Given the description of an element on the screen output the (x, y) to click on. 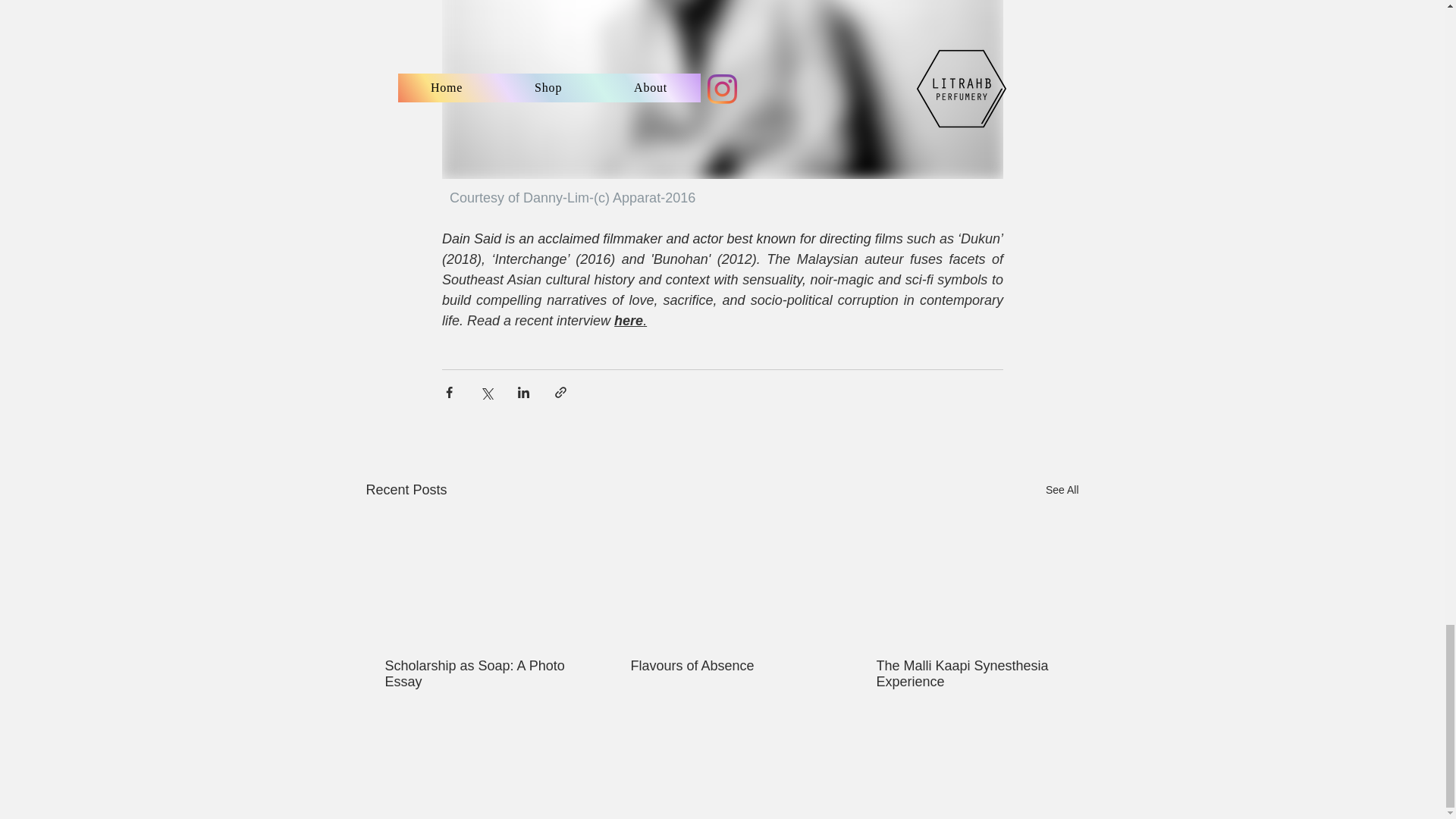
See All (1061, 490)
The Malli Kaapi Synesthesia Experience (967, 674)
Flavours of Absence (721, 666)
here (628, 320)
Scholarship as Soap: A Photo Essay (476, 674)
